Given the description of an element on the screen output the (x, y) to click on. 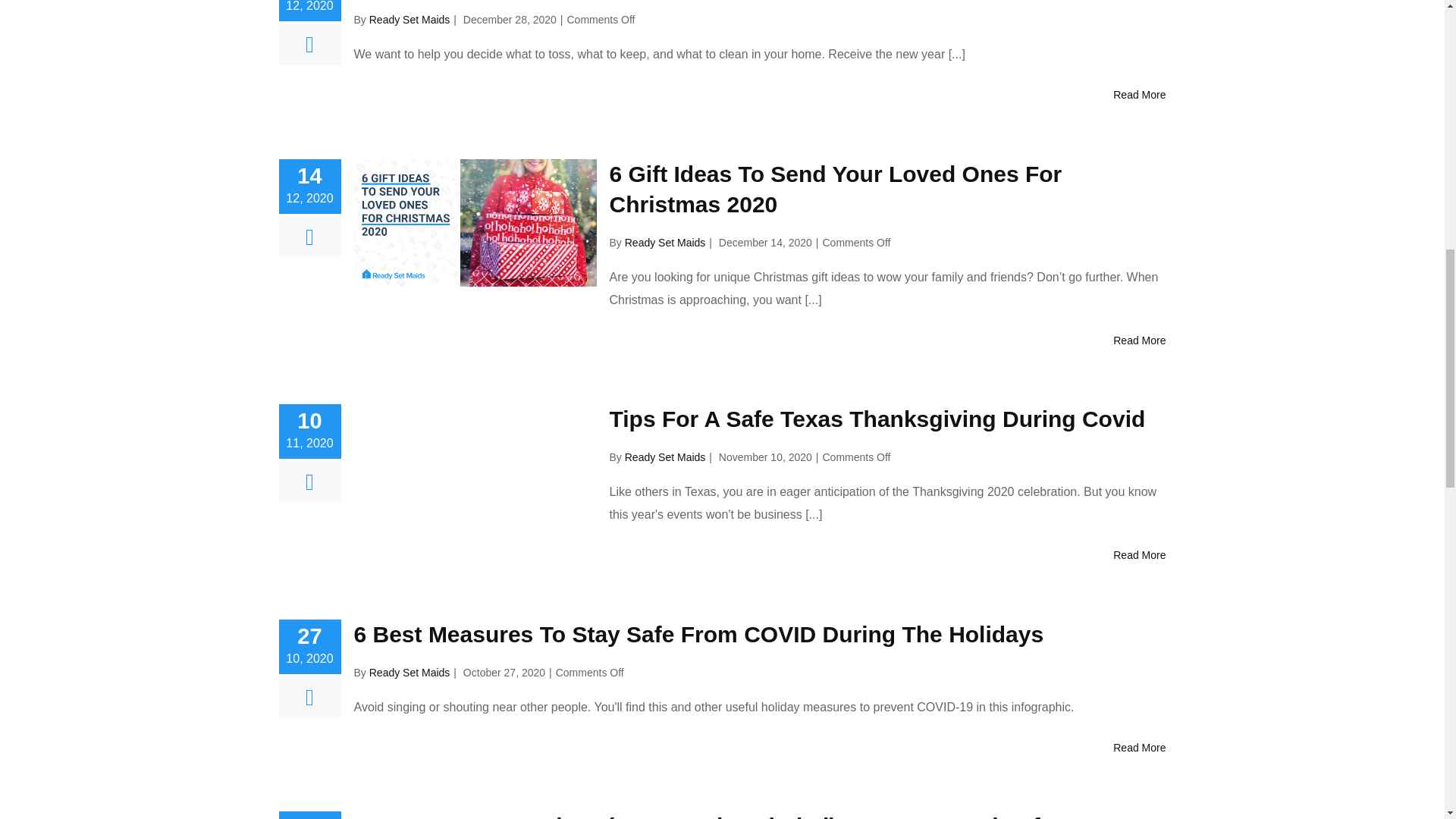
Posts by Ready Set Maids (409, 19)
Posts by Ready Set Maids (665, 457)
Posts by Ready Set Maids (409, 671)
Posts by Ready Set Maids (665, 242)
